Given the description of an element on the screen output the (x, y) to click on. 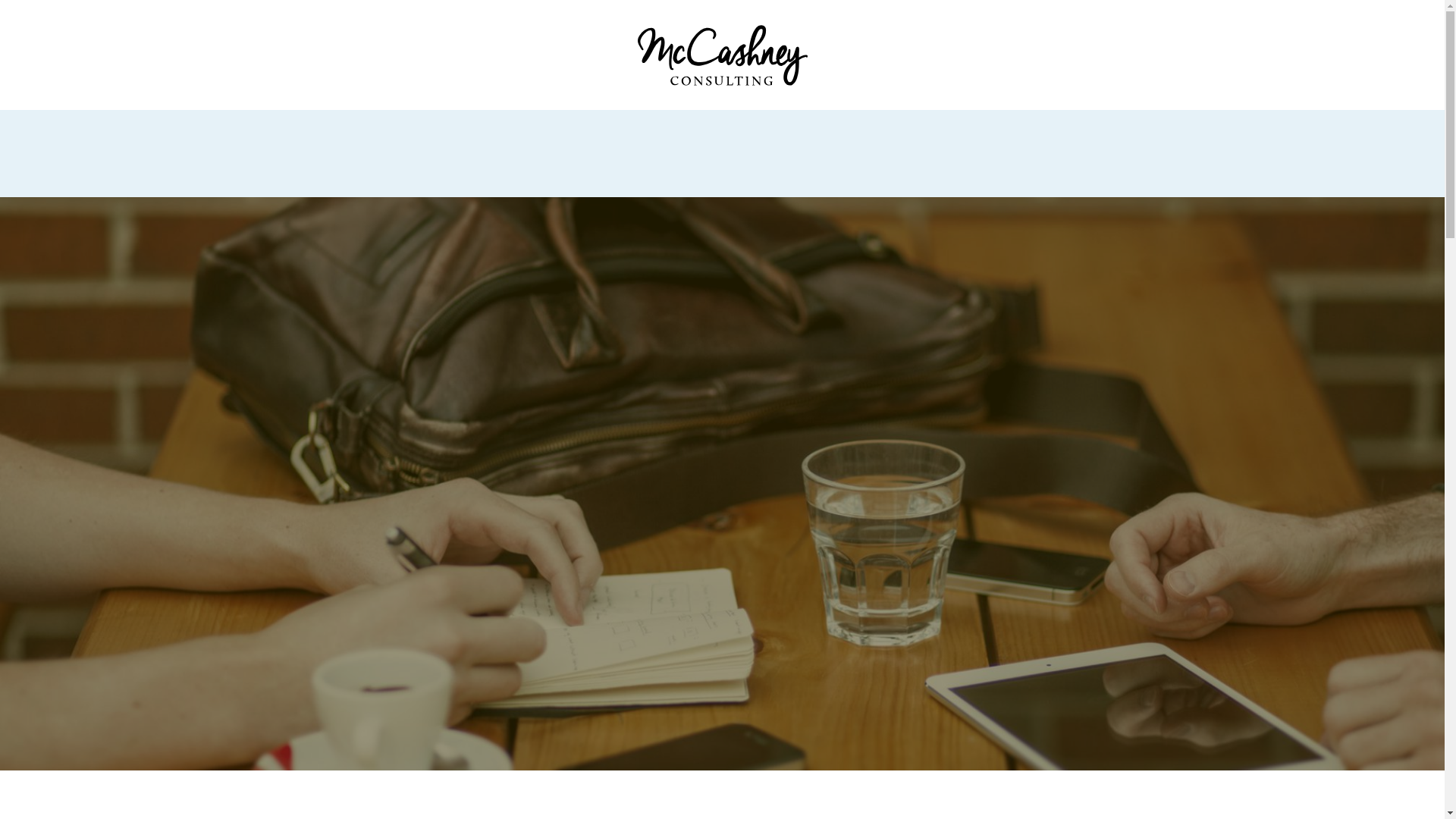
McCashney Consulting Element type: text (721, 54)
